Given the description of an element on the screen output the (x, y) to click on. 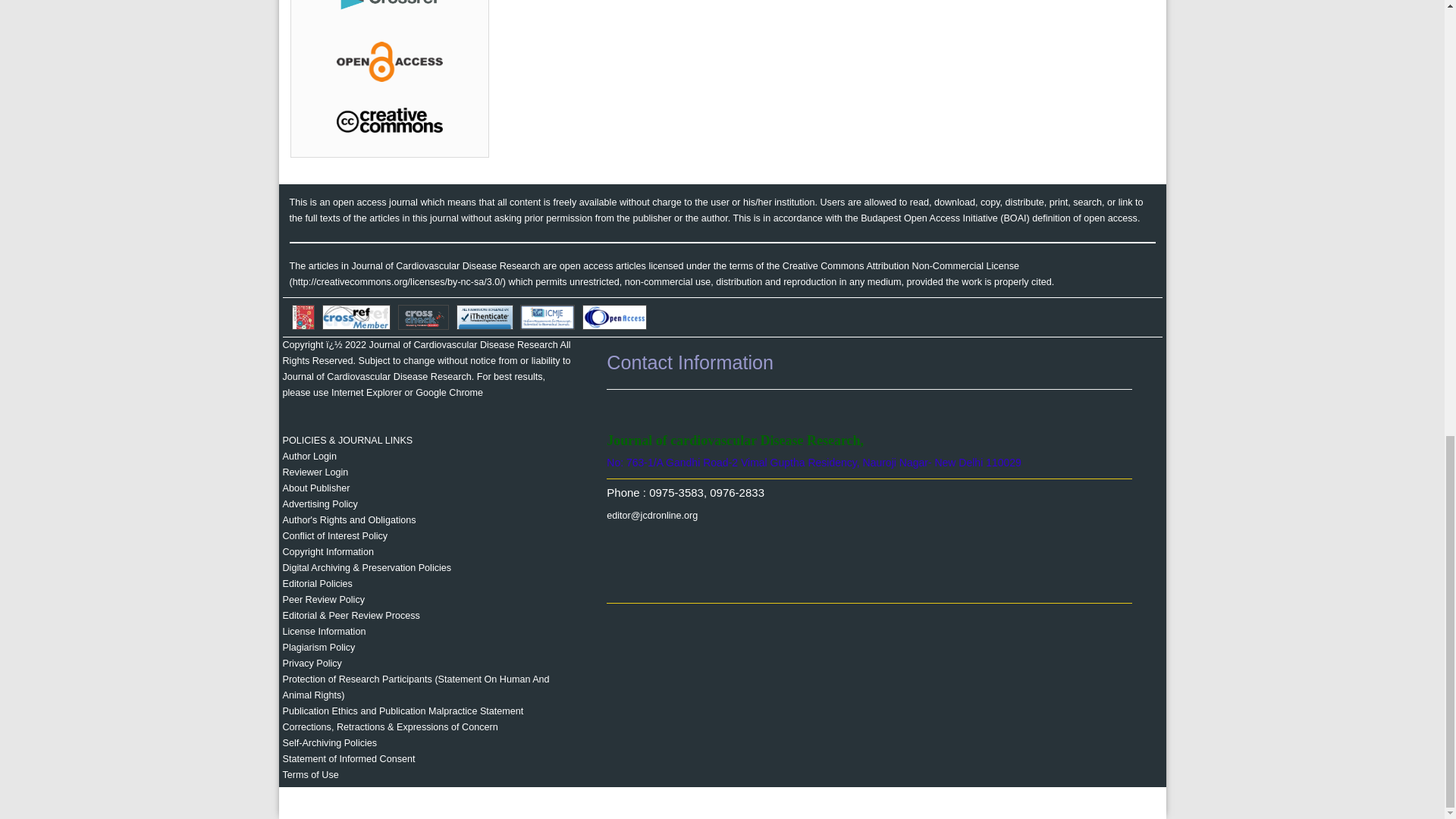
Conflict of Interest Policy (334, 535)
Peer Review Policy (323, 599)
Author Login (309, 456)
Author's Rights and Obligations (348, 520)
About Publisher (315, 488)
Reviewer Login (314, 471)
Plagiarism Policy (318, 647)
Copyright Information (327, 552)
License Information (323, 631)
Editorial Policies (317, 583)
Advertising Policy (319, 503)
